Given the description of an element on the screen output the (x, y) to click on. 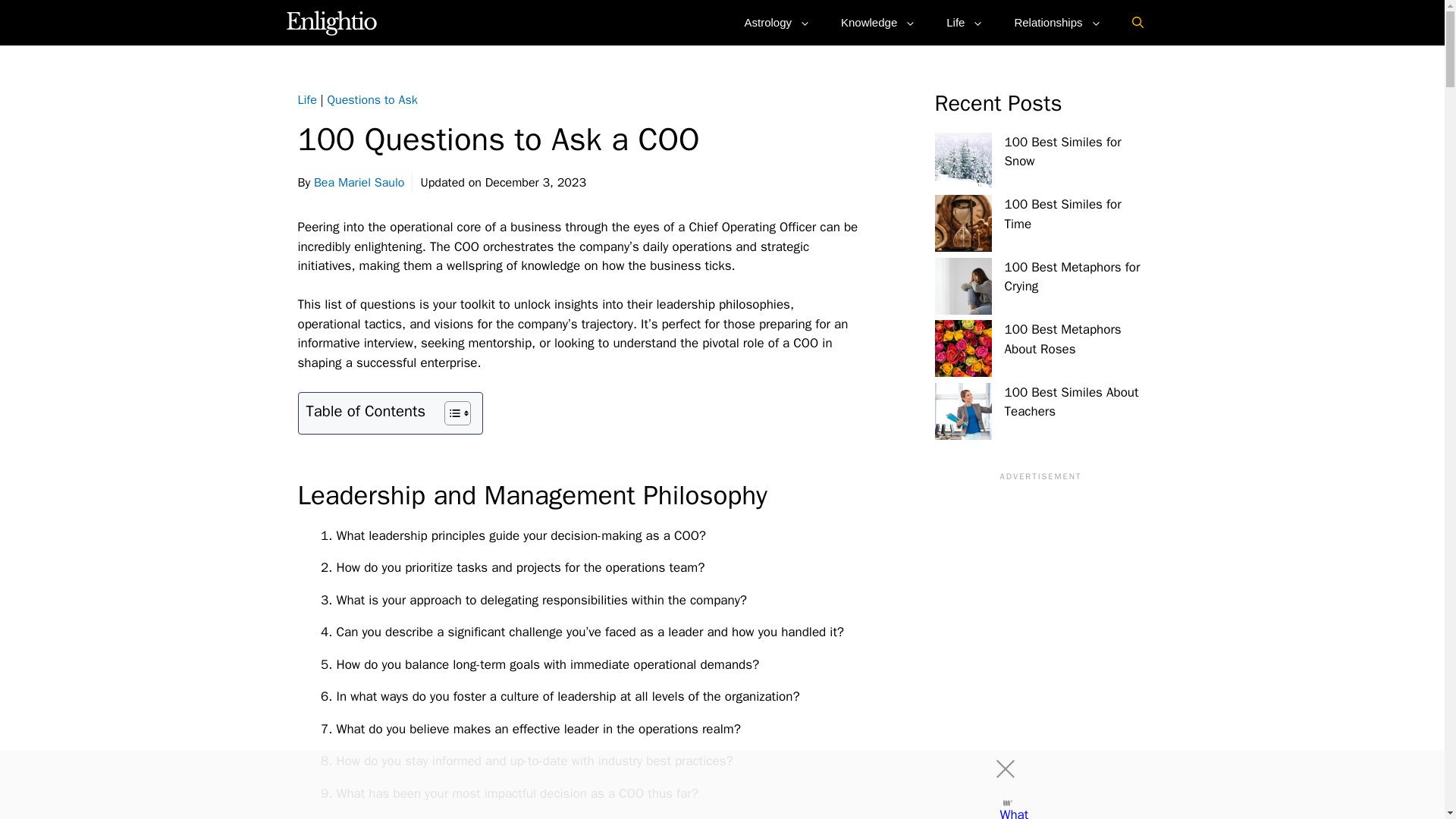
Astrology (777, 22)
Questions to Ask (372, 99)
Enlightio (331, 22)
Relationships (1057, 22)
Life (306, 99)
Knowledge (878, 22)
Bea Mariel Saulo (359, 182)
Life (964, 22)
